Given the description of an element on the screen output the (x, y) to click on. 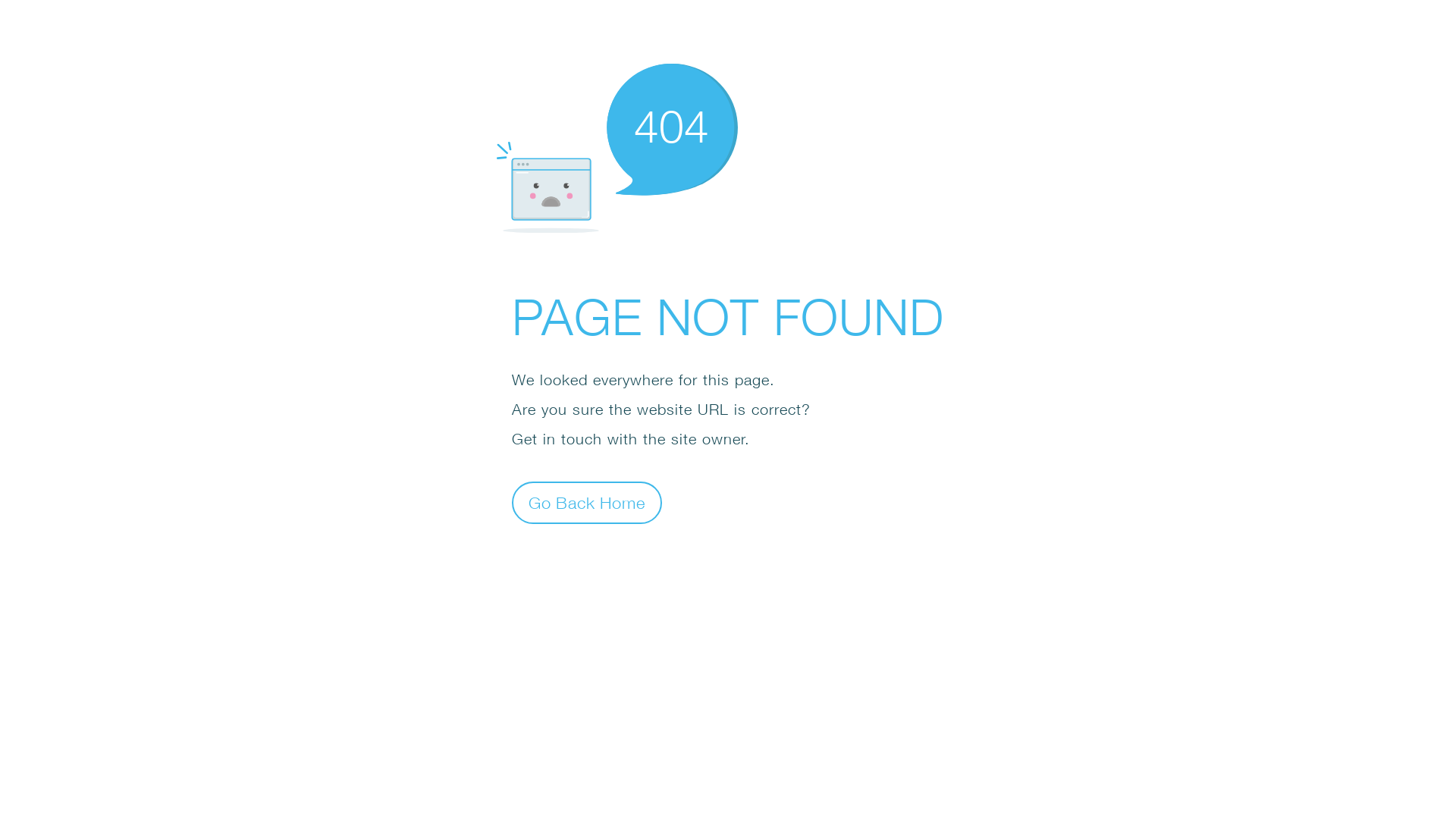
Go Back Home Element type: text (586, 502)
